Given the description of an element on the screen output the (x, y) to click on. 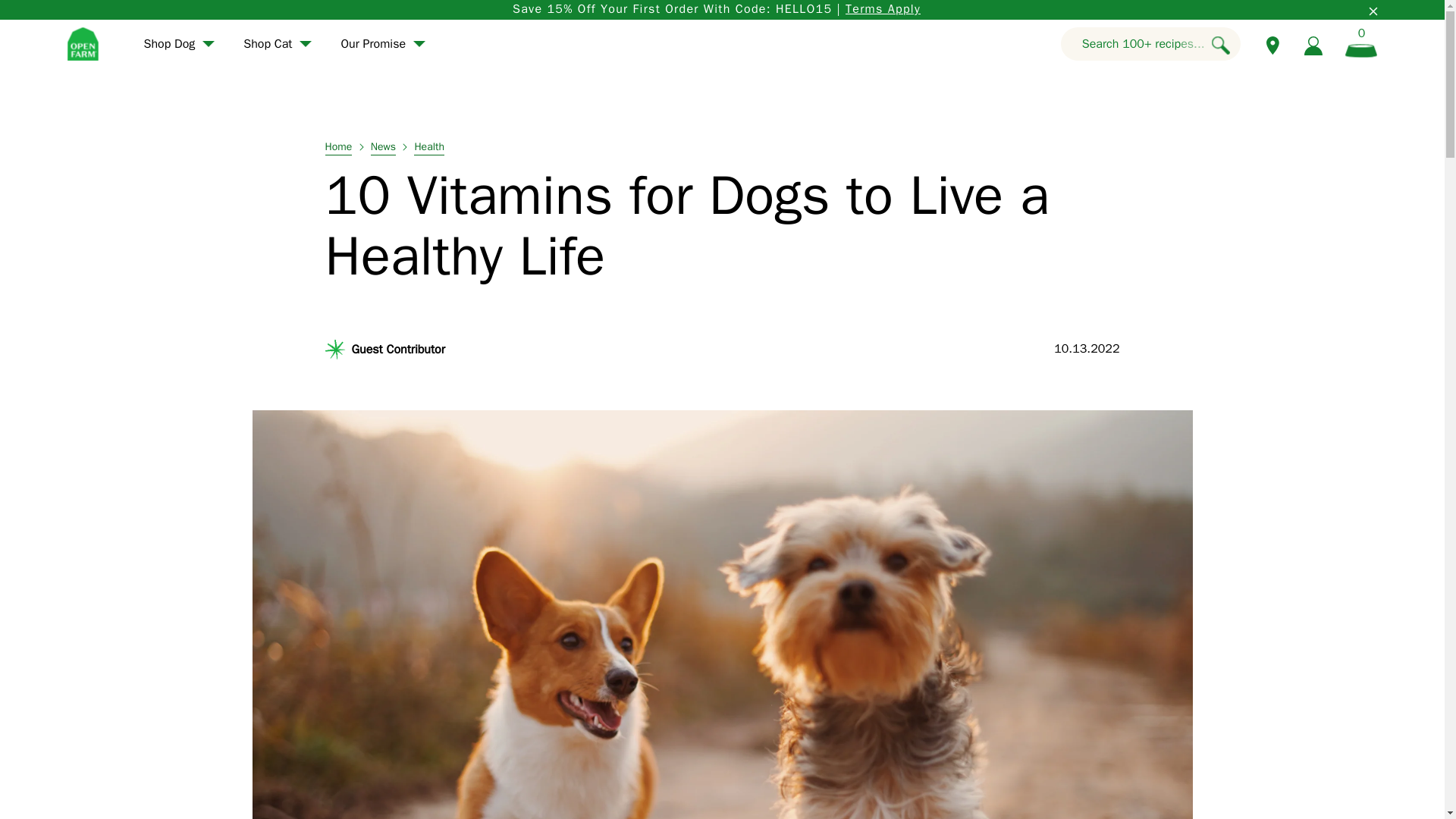
Home (338, 148)
Our Promise (381, 43)
Shop Cat (276, 43)
Terms Apply (882, 8)
Shop Dog (179, 43)
